Given the description of an element on the screen output the (x, y) to click on. 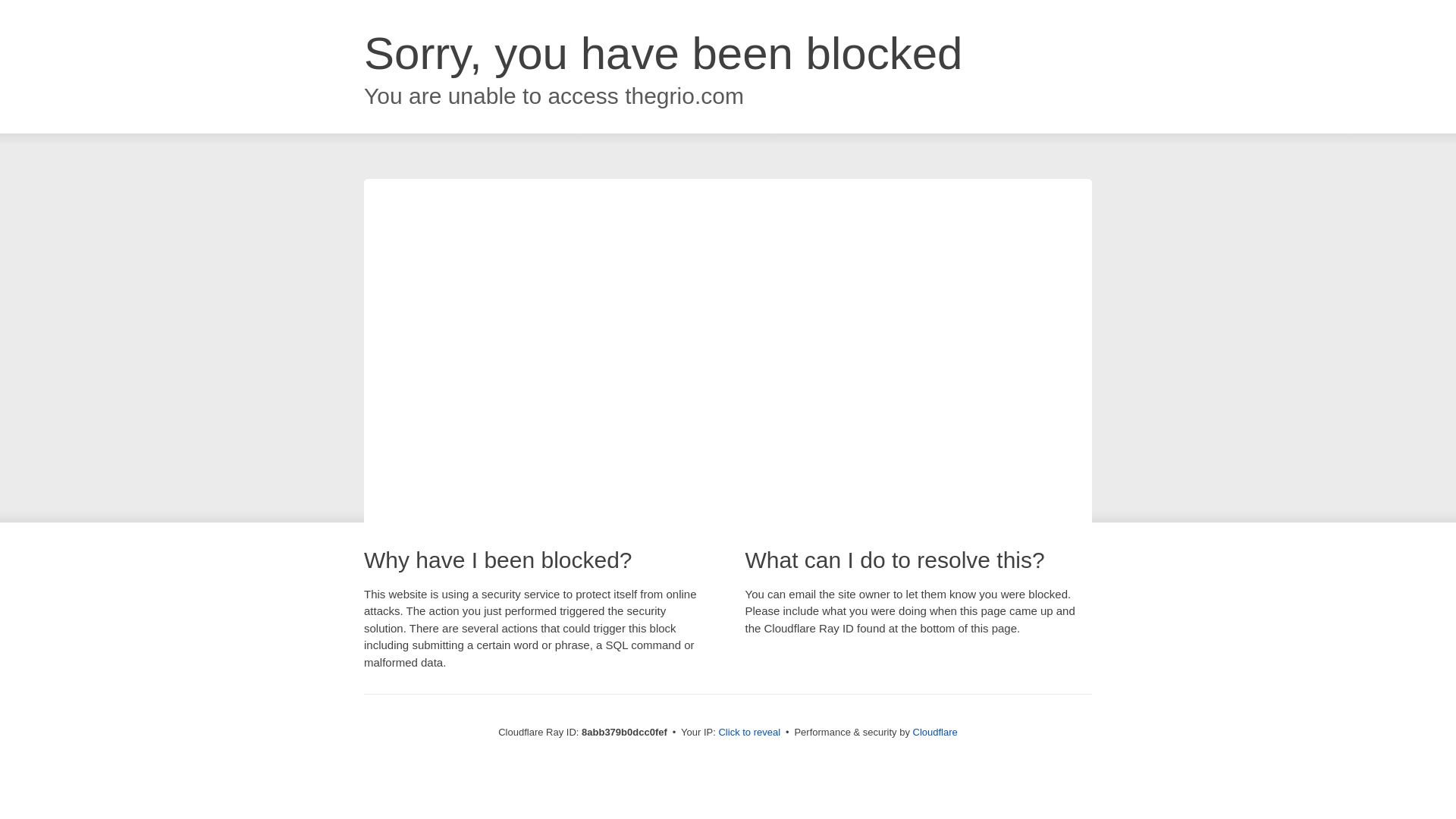
Click to reveal (748, 732)
Cloudflare (935, 731)
